Given the description of an element on the screen output the (x, y) to click on. 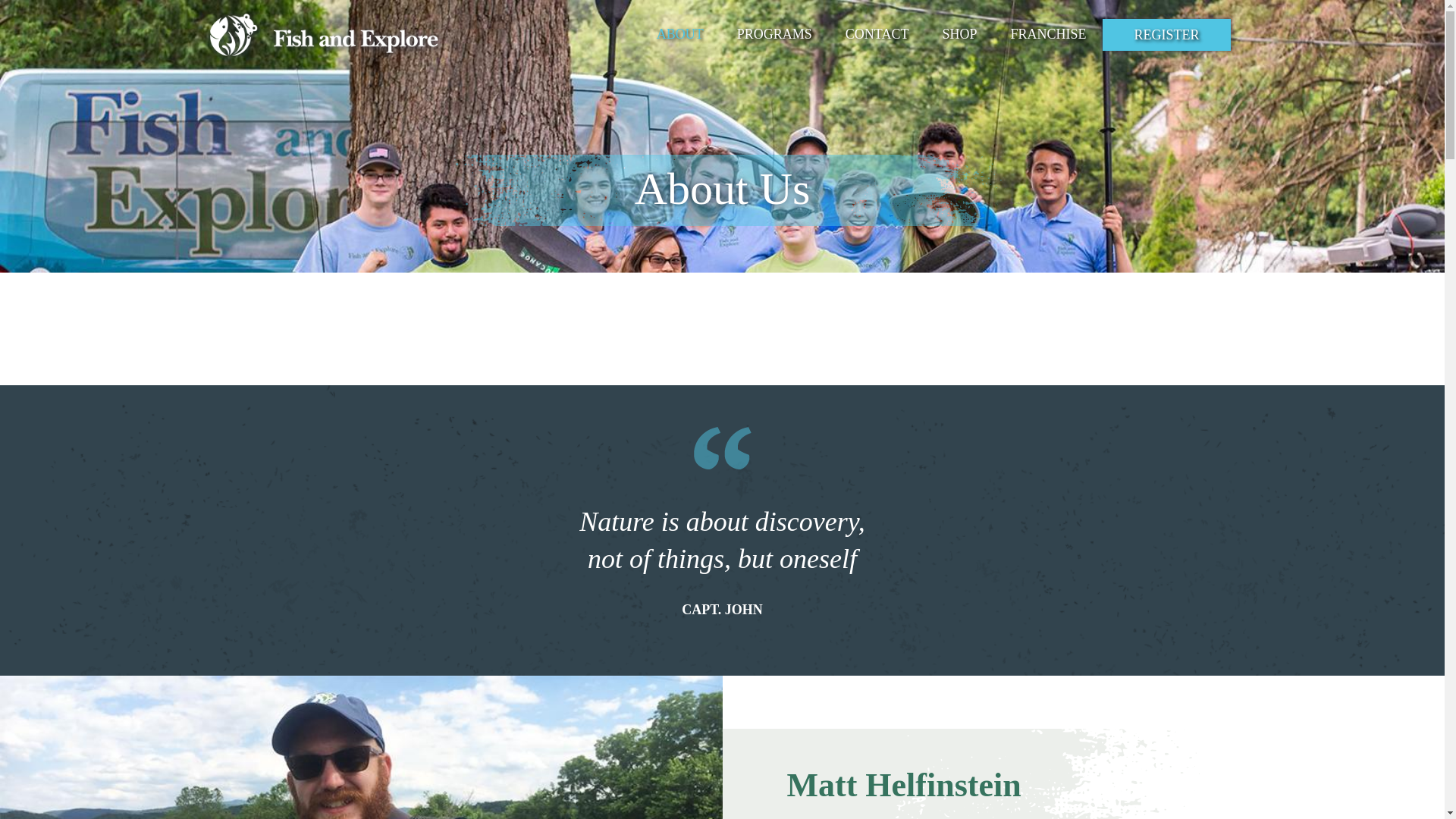
FRANCHISE (1047, 33)
PROGRAMS (774, 33)
REGISTER (1166, 34)
CONTACT (877, 33)
SHOP (958, 33)
ABOUT (680, 33)
